Given the description of an element on the screen output the (x, y) to click on. 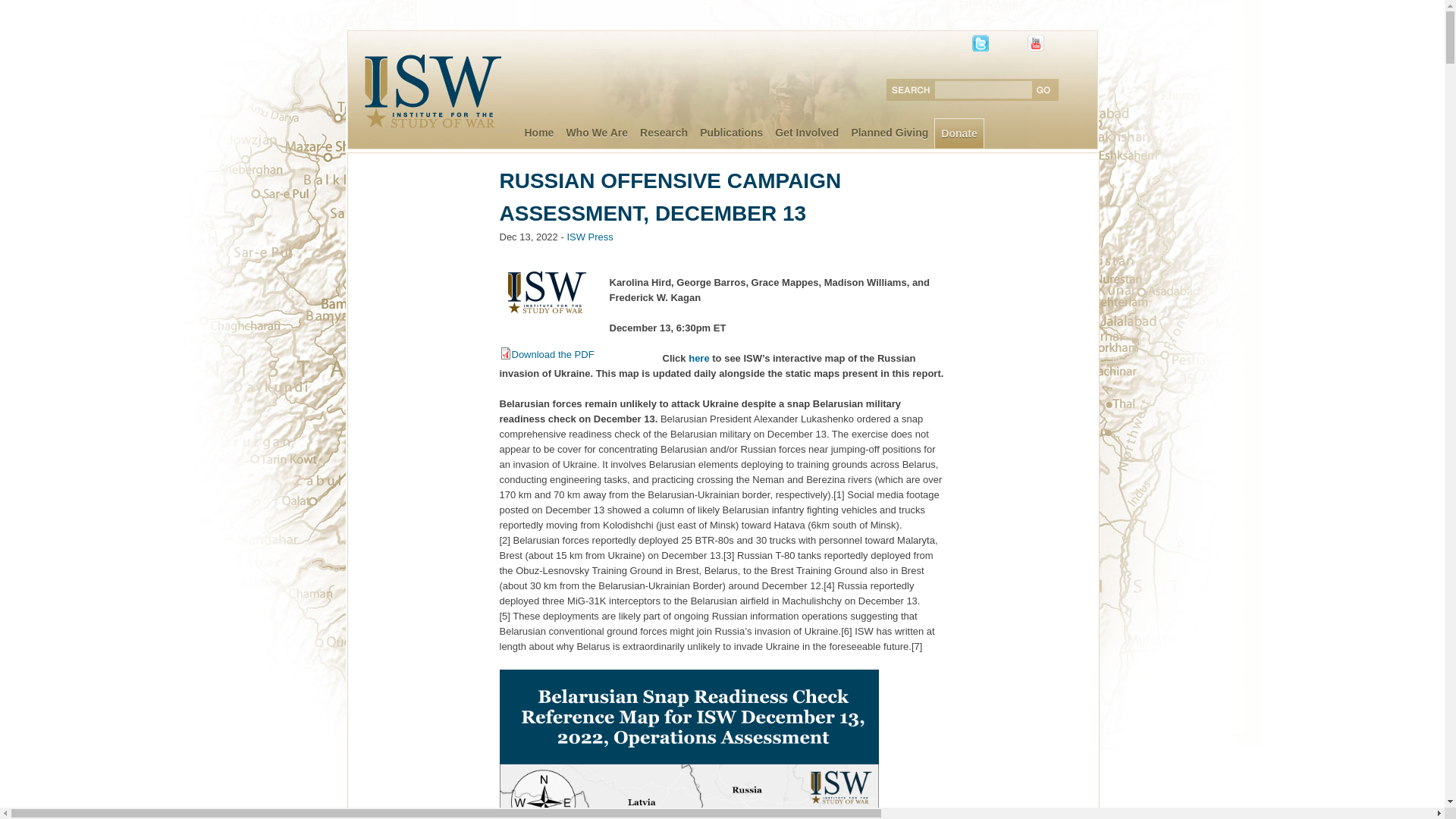
Home (539, 132)
Enter the terms you wish to search for. (985, 89)
Planned Giving (889, 132)
Download the PDF (546, 354)
Who We Are (596, 132)
ISW Press (589, 236)
here (698, 357)
Get Involved (806, 132)
View user profile. (589, 236)
